Given the description of an element on the screen output the (x, y) to click on. 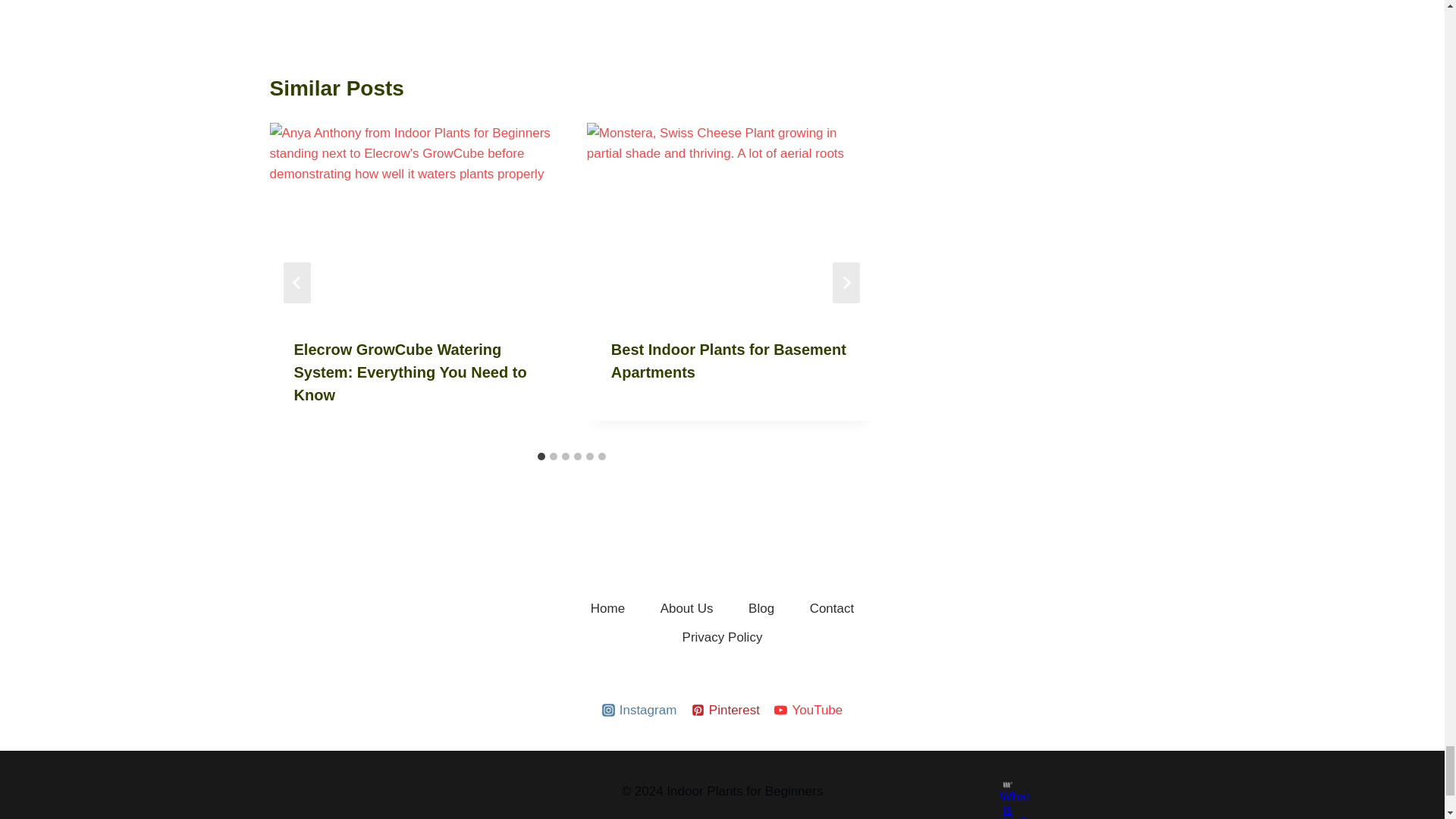
Best Indoor Plants for Basement Apartments (728, 360)
